Given the description of an element on the screen output the (x, y) to click on. 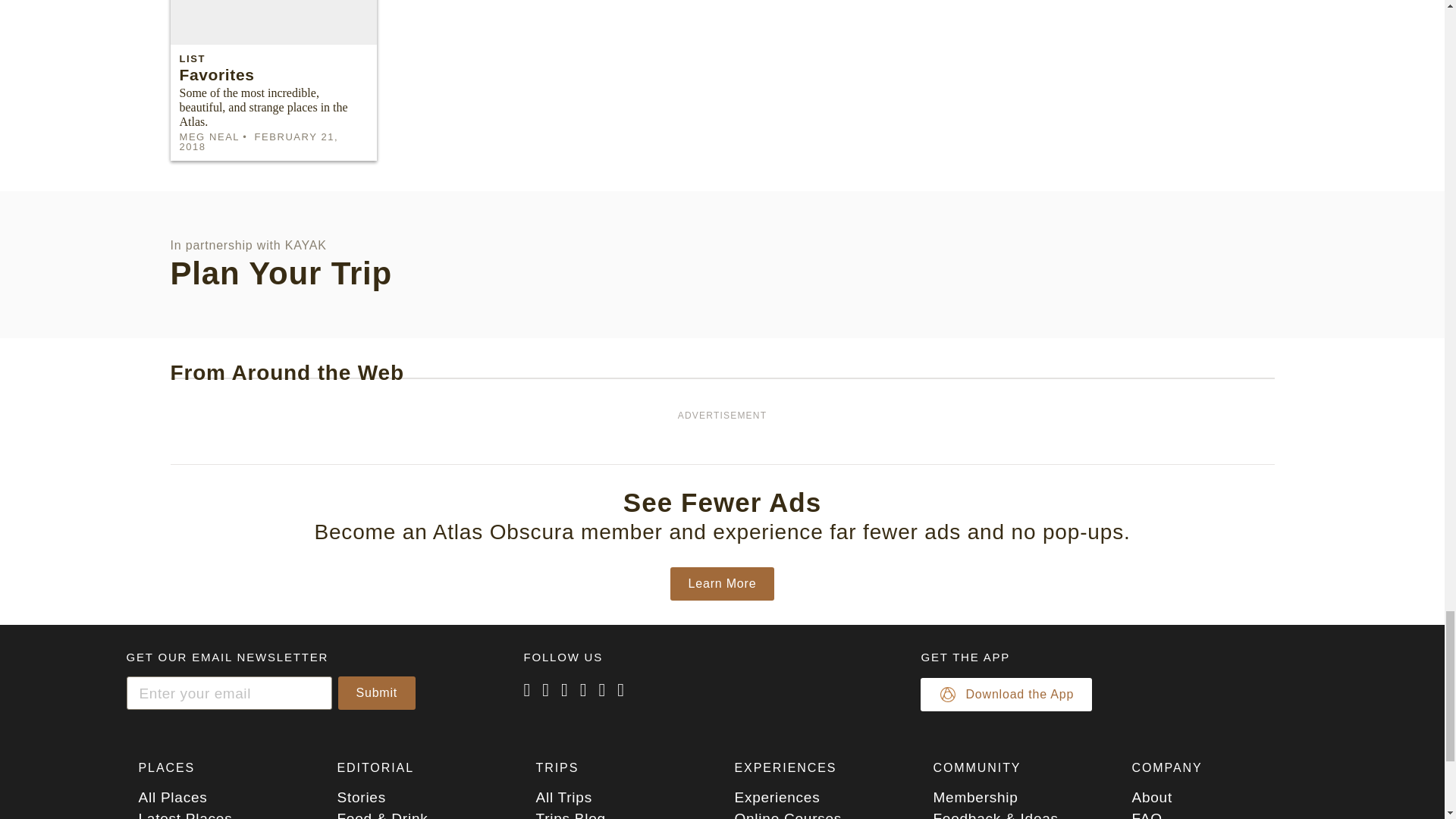
Submit (376, 693)
